Given the description of an element on the screen output the (x, y) to click on. 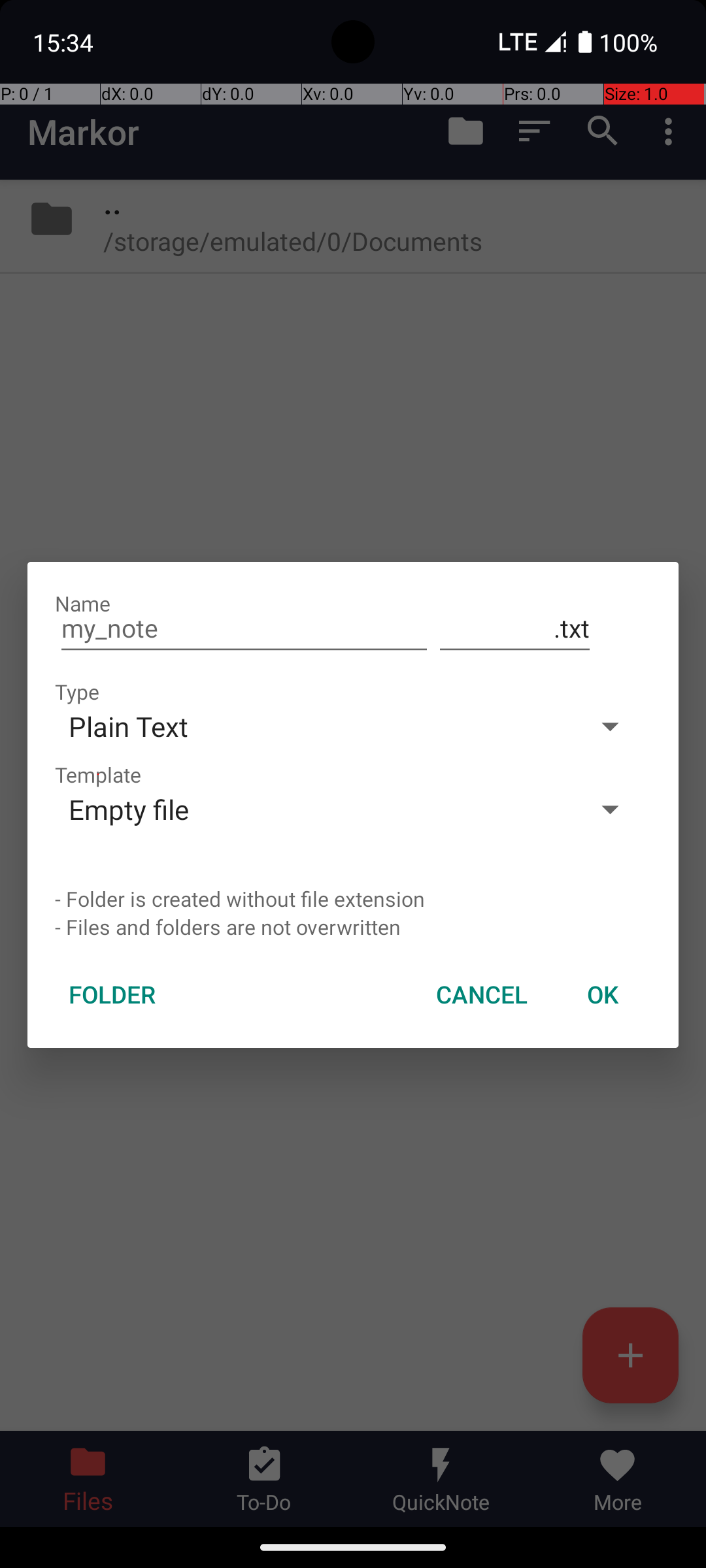
.txt Element type: android.widget.EditText (514, 628)
